Given the description of an element on the screen output the (x, y) to click on. 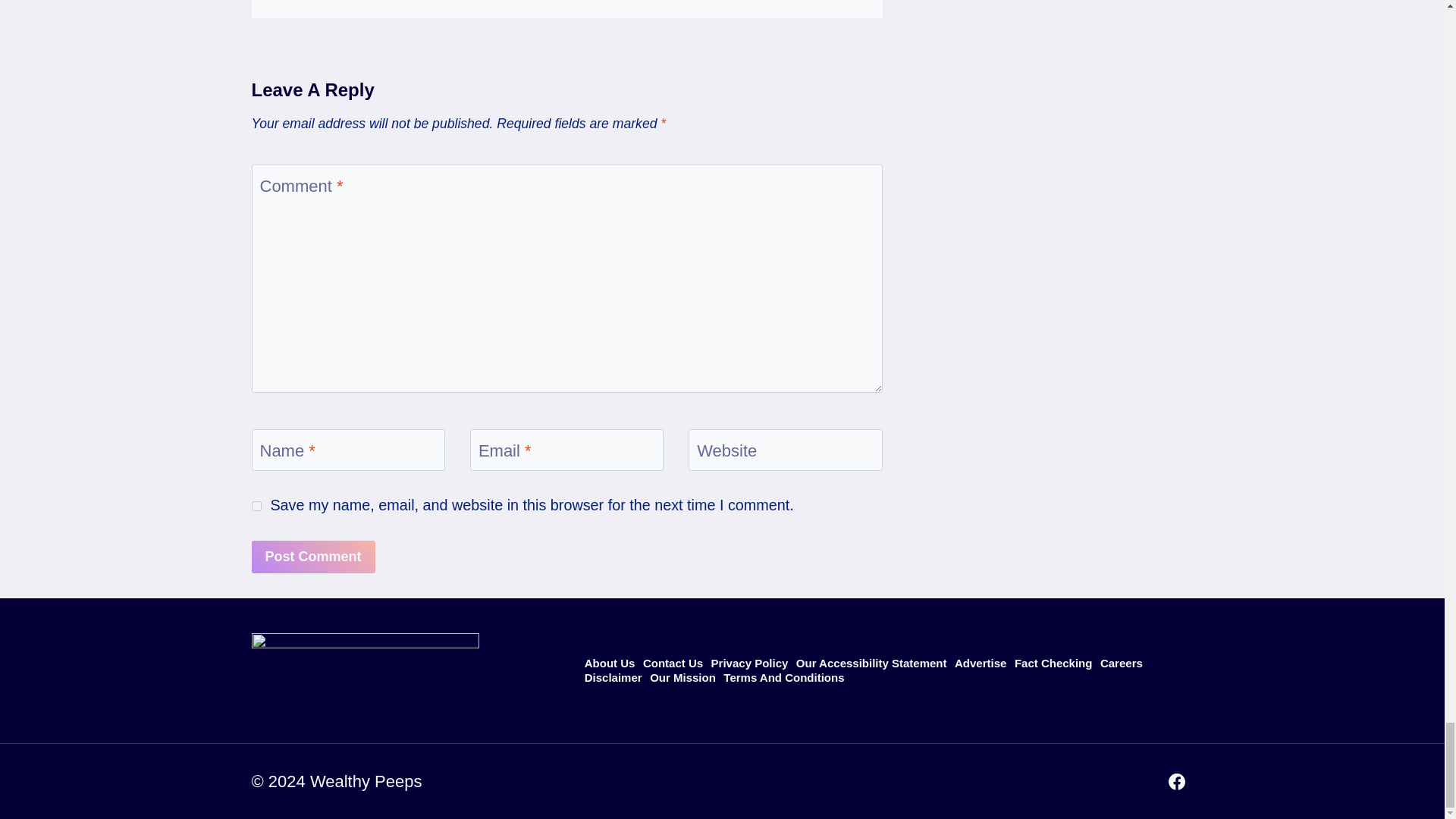
yes (256, 506)
Post Comment (313, 556)
